Given the description of an element on the screen output the (x, y) to click on. 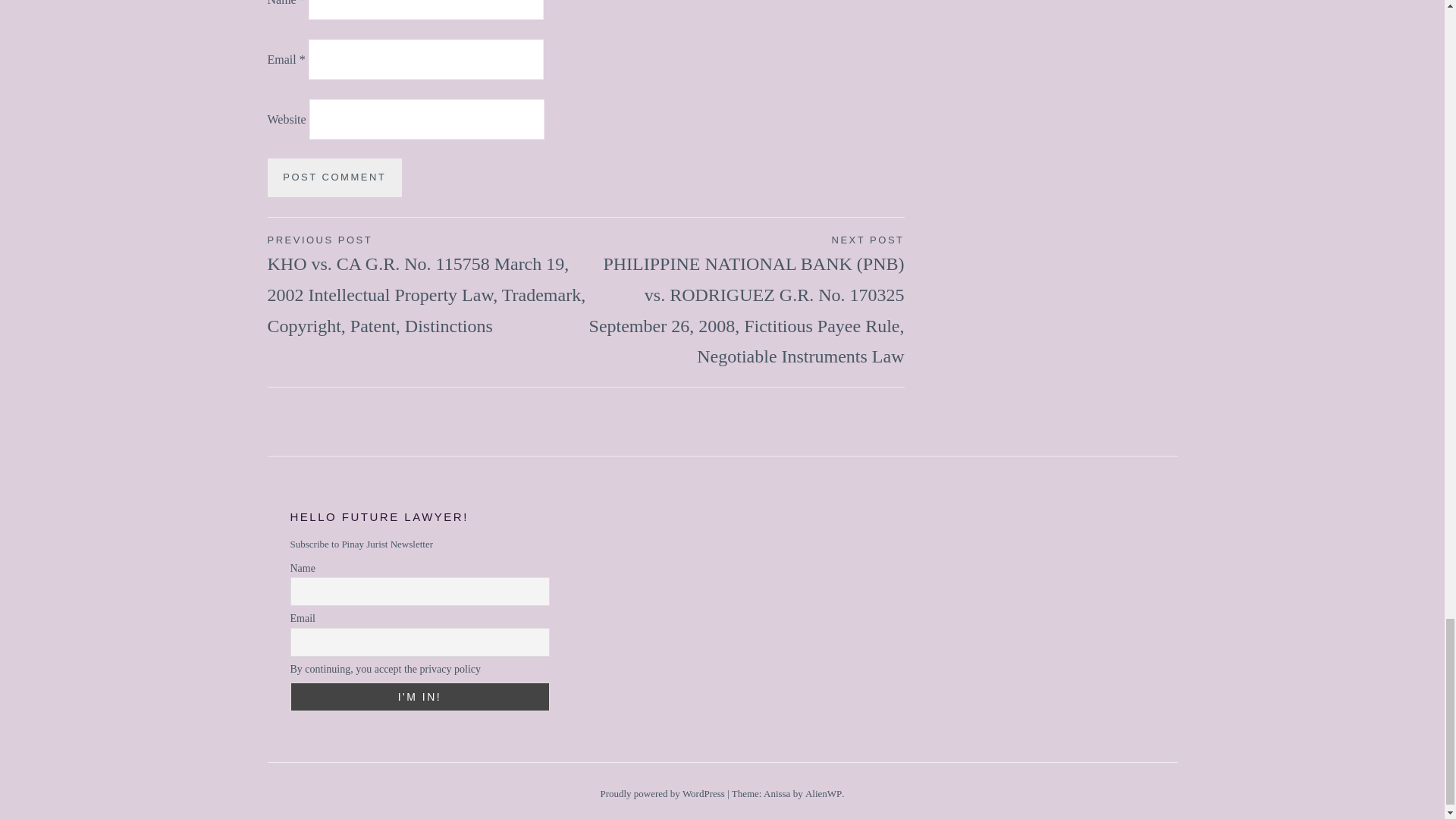
Post Comment (333, 177)
Post Comment (333, 177)
I'm In! (418, 696)
